Given the description of an element on the screen output the (x, y) to click on. 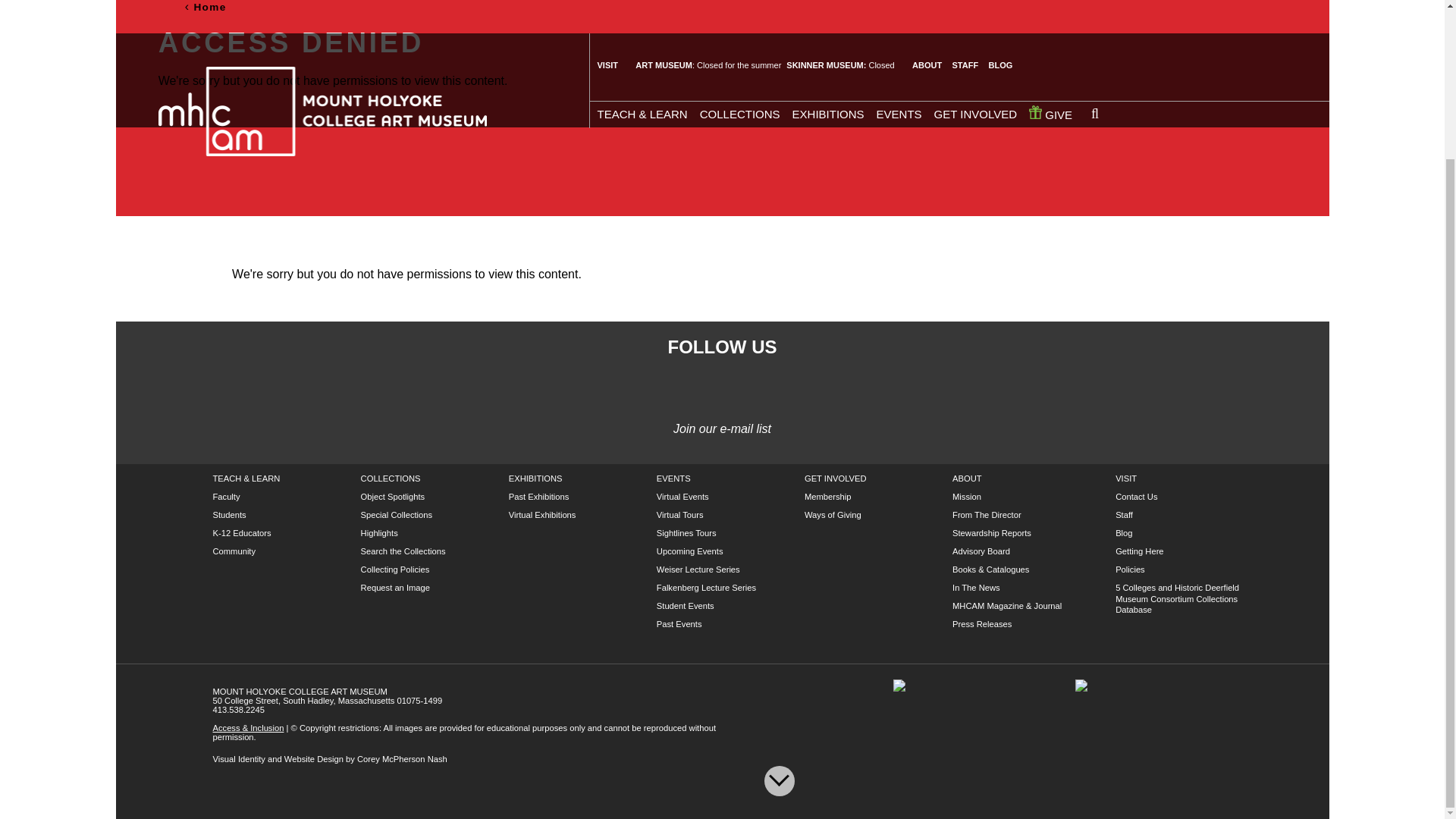
Past Exhibitions (538, 496)
Staff (1123, 514)
5 Colleges and Historic Deerfield Collections Database (1177, 598)
Community (234, 551)
Get Involved Overview (835, 478)
Highlights (379, 532)
Faculty (226, 496)
K12 Educators (241, 532)
Students (229, 514)
Current Exhibitions (535, 478)
